Given the description of an element on the screen output the (x, y) to click on. 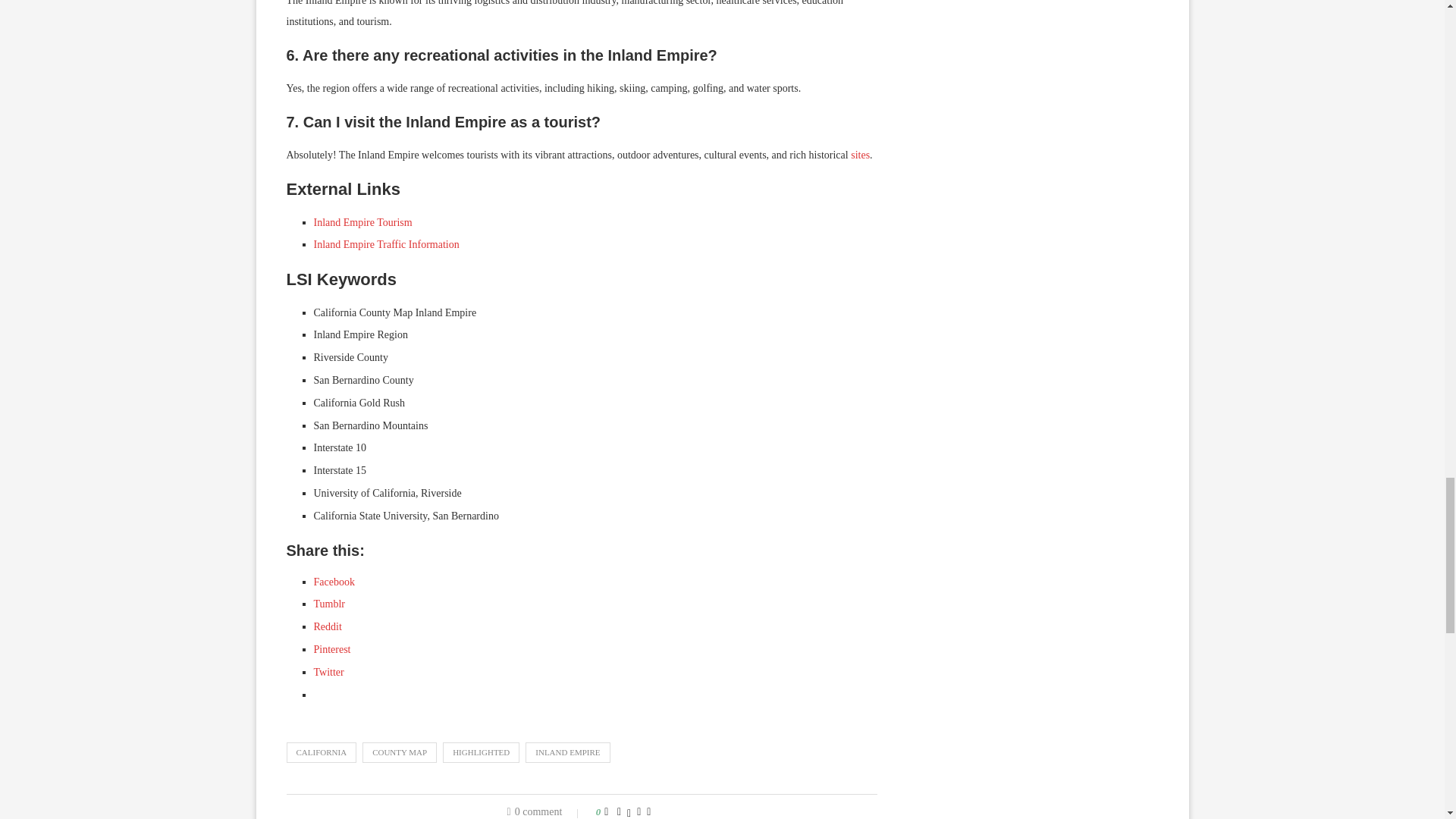
sites (859, 154)
Inland Empire Traffic Information (387, 244)
Click to share on Facebook (334, 582)
Click to share on Reddit (328, 626)
HIGHLIGHTED (480, 752)
Reddit (328, 626)
Click to share on Tumblr (330, 603)
Click to share on Twitter (328, 672)
Pinterest (332, 649)
CALIFORNIA (321, 752)
Click to share on Pinterest (332, 649)
INLAND EMPIRE (567, 752)
Tumblr (330, 603)
Facebook (334, 582)
Inland Empire Tourism (363, 222)
